Given the description of an element on the screen output the (x, y) to click on. 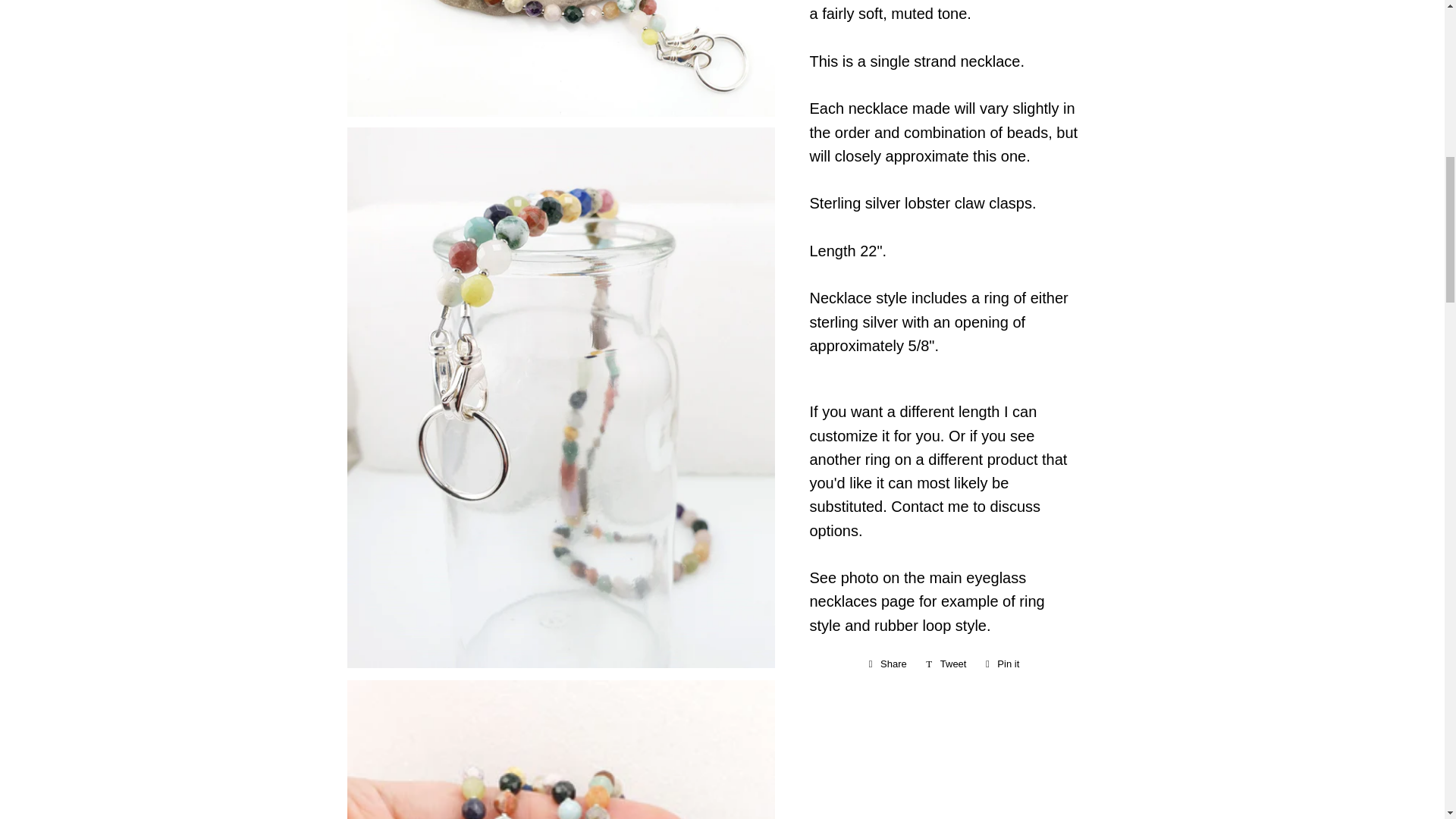
Share on Facebook (887, 663)
Pin on Pinterest (1002, 663)
Tweet on Twitter (1002, 663)
